Given the description of an element on the screen output the (x, y) to click on. 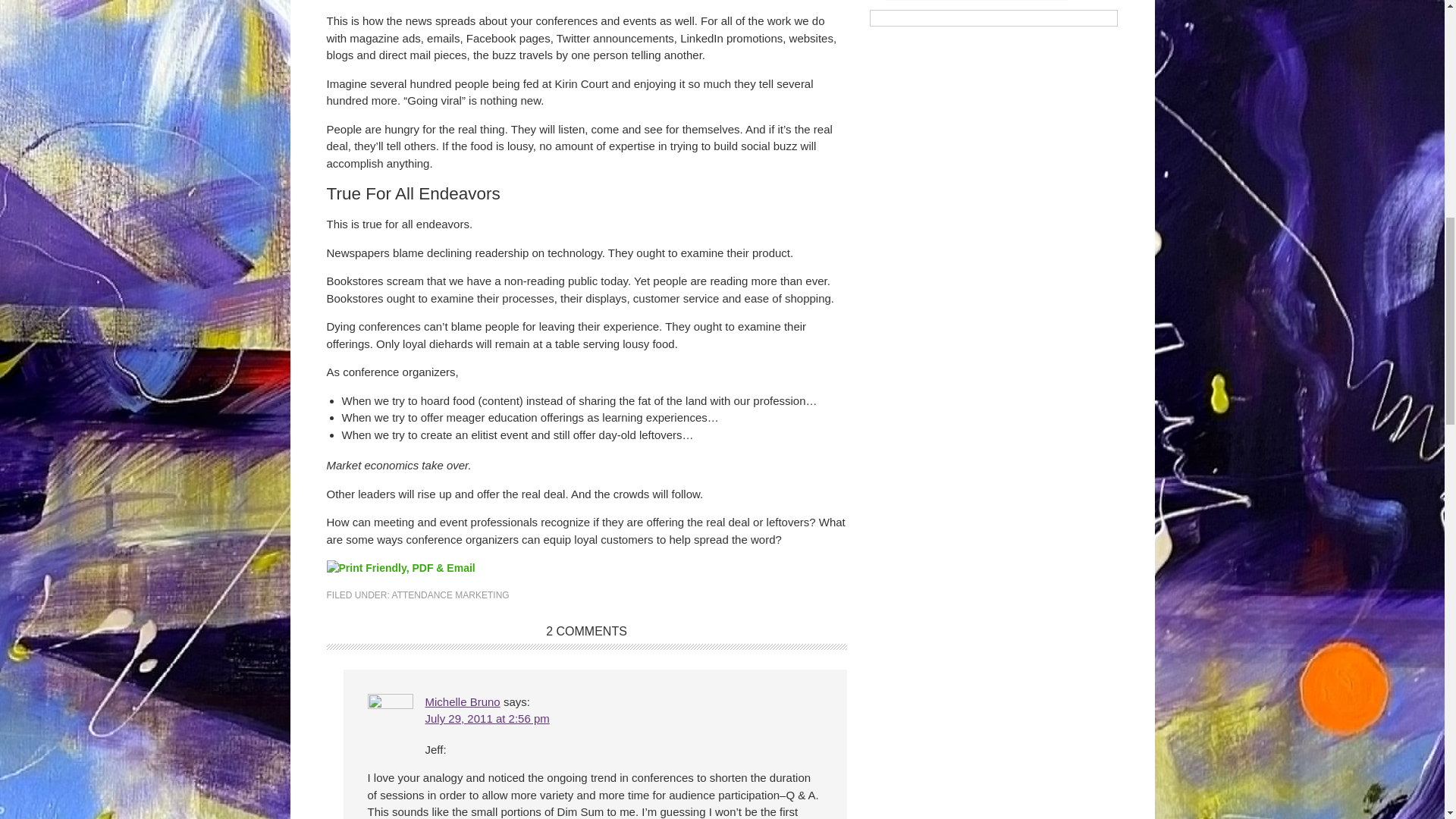
ATTENDANCE MARKETING (450, 594)
Michelle Bruno (462, 701)
July 29, 2011 at 2:56 pm (486, 717)
